Given the description of an element on the screen output the (x, y) to click on. 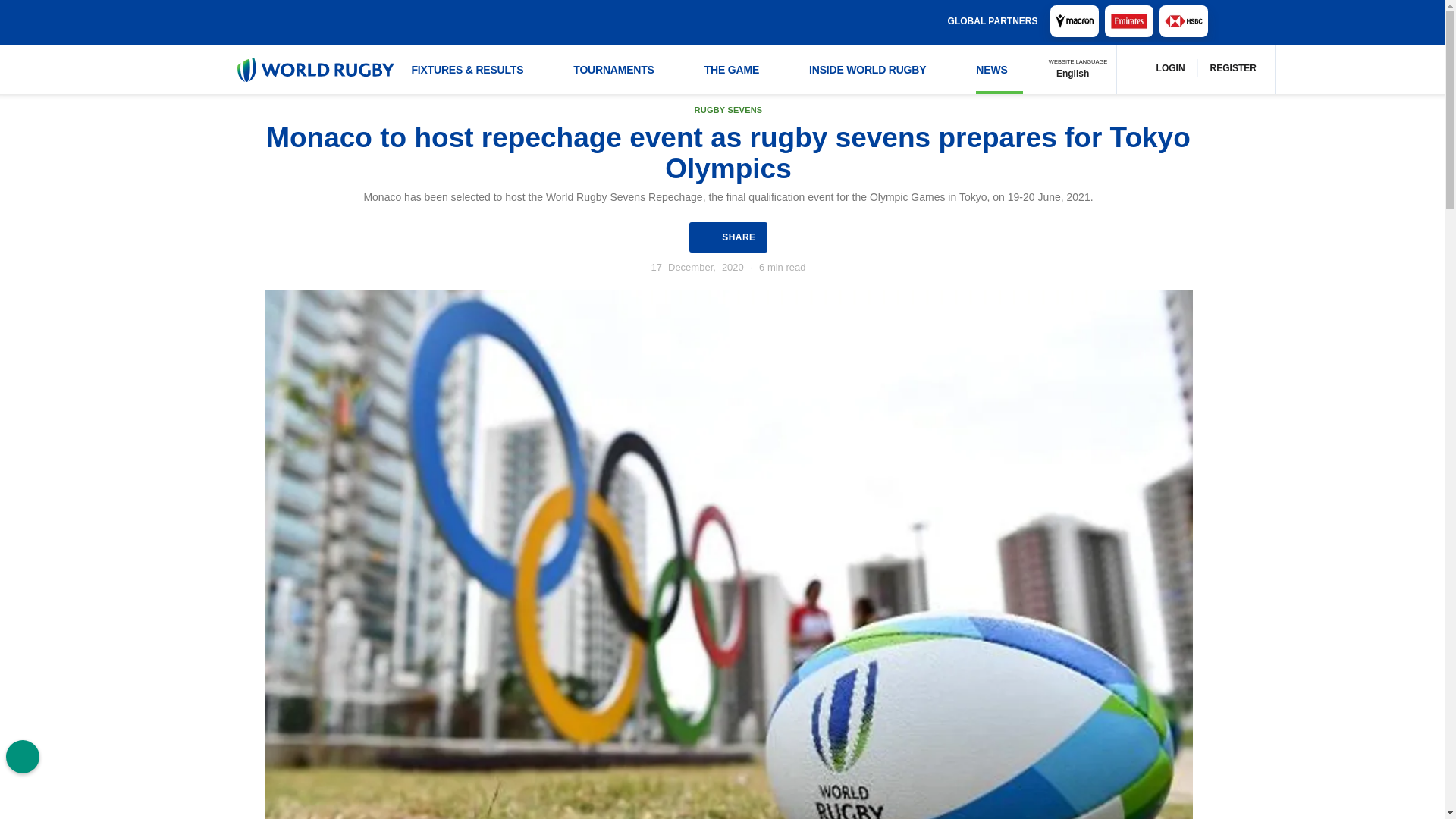
1 characters minimum (706, 20)
World Rugby (314, 69)
